Given the description of an element on the screen output the (x, y) to click on. 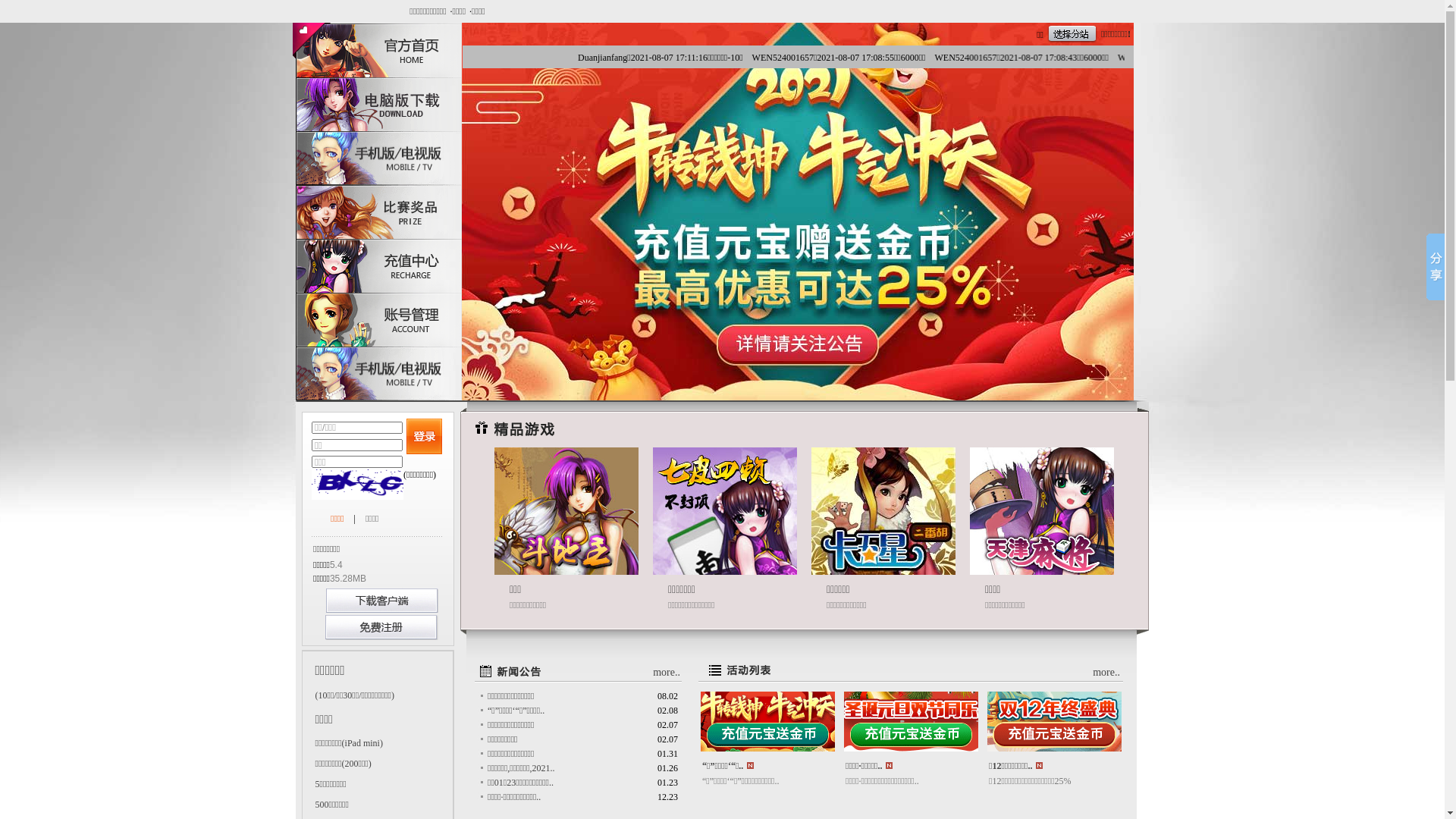
more.. Element type: text (666, 671)
more.. Element type: text (1106, 671)
